Given the description of an element on the screen output the (x, y) to click on. 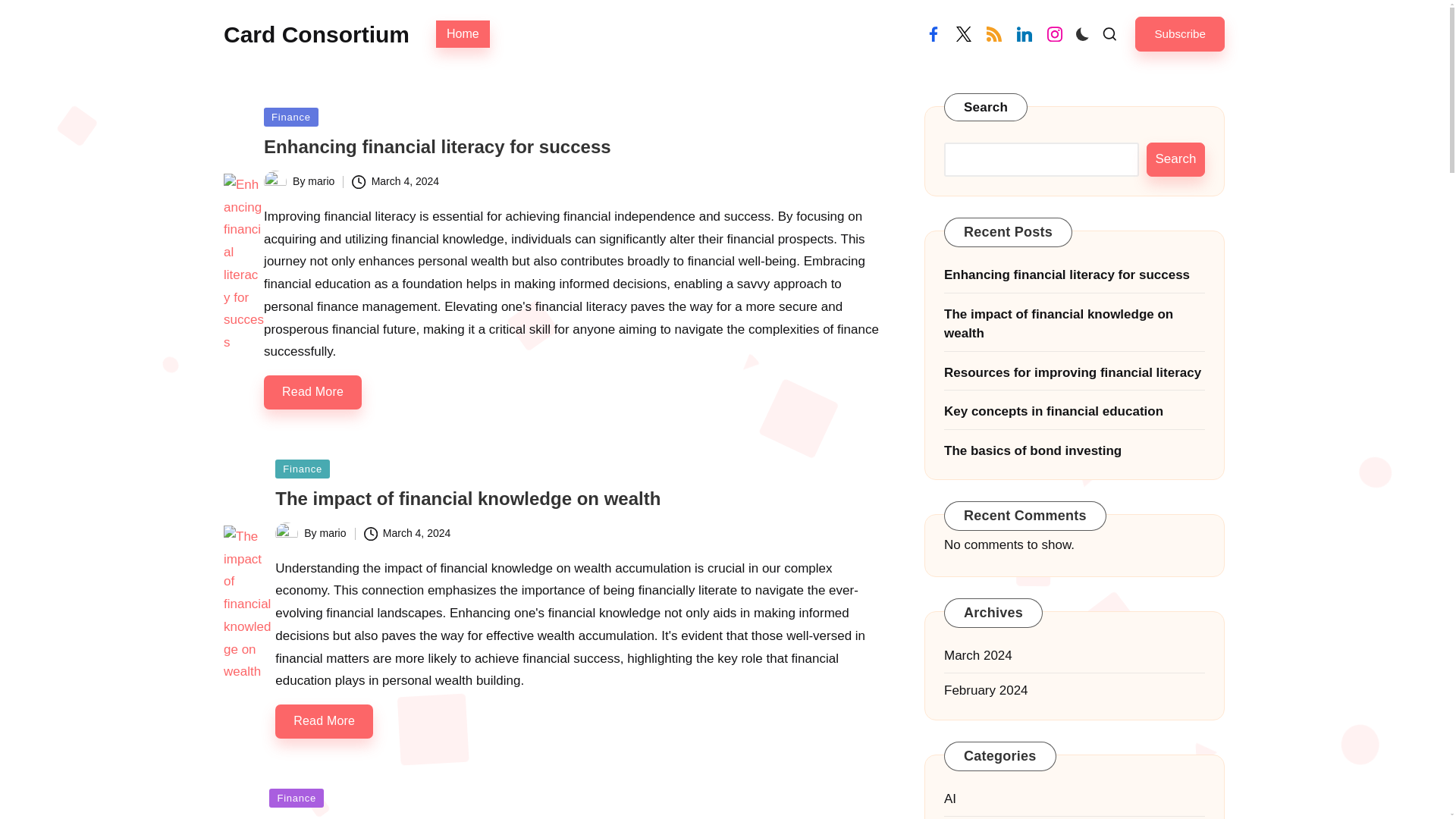
View all posts by mario (333, 532)
Finance (302, 468)
linkedin.com (1023, 33)
The impact of financial knowledge on wealth (468, 498)
Finance (290, 116)
The impact of financial knowledge on wealth (468, 498)
rss.com (994, 33)
Card Consortium (316, 33)
Read More (323, 721)
